Given the description of an element on the screen output the (x, y) to click on. 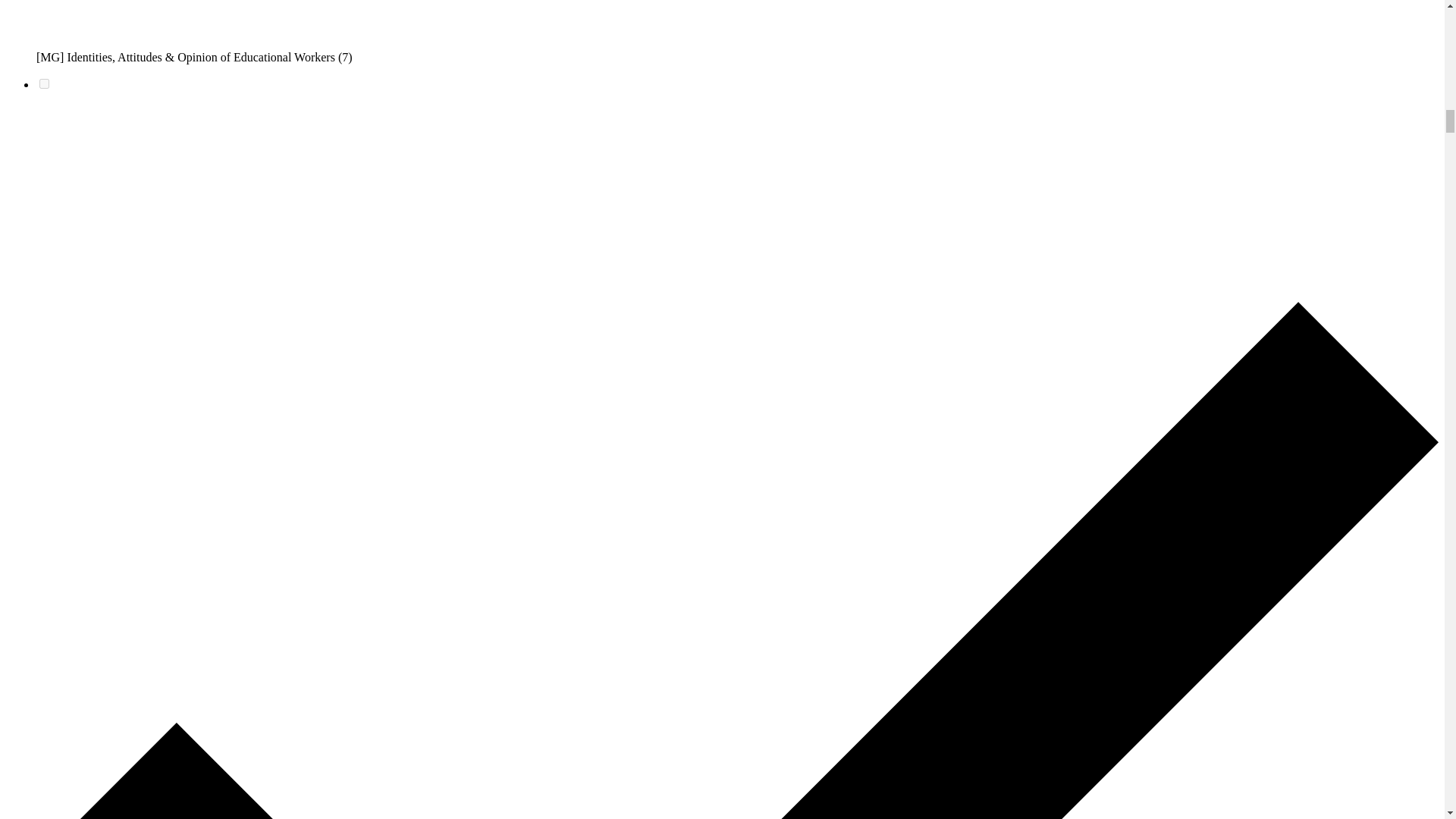
78 (44, 83)
